Given the description of an element on the screen output the (x, y) to click on. 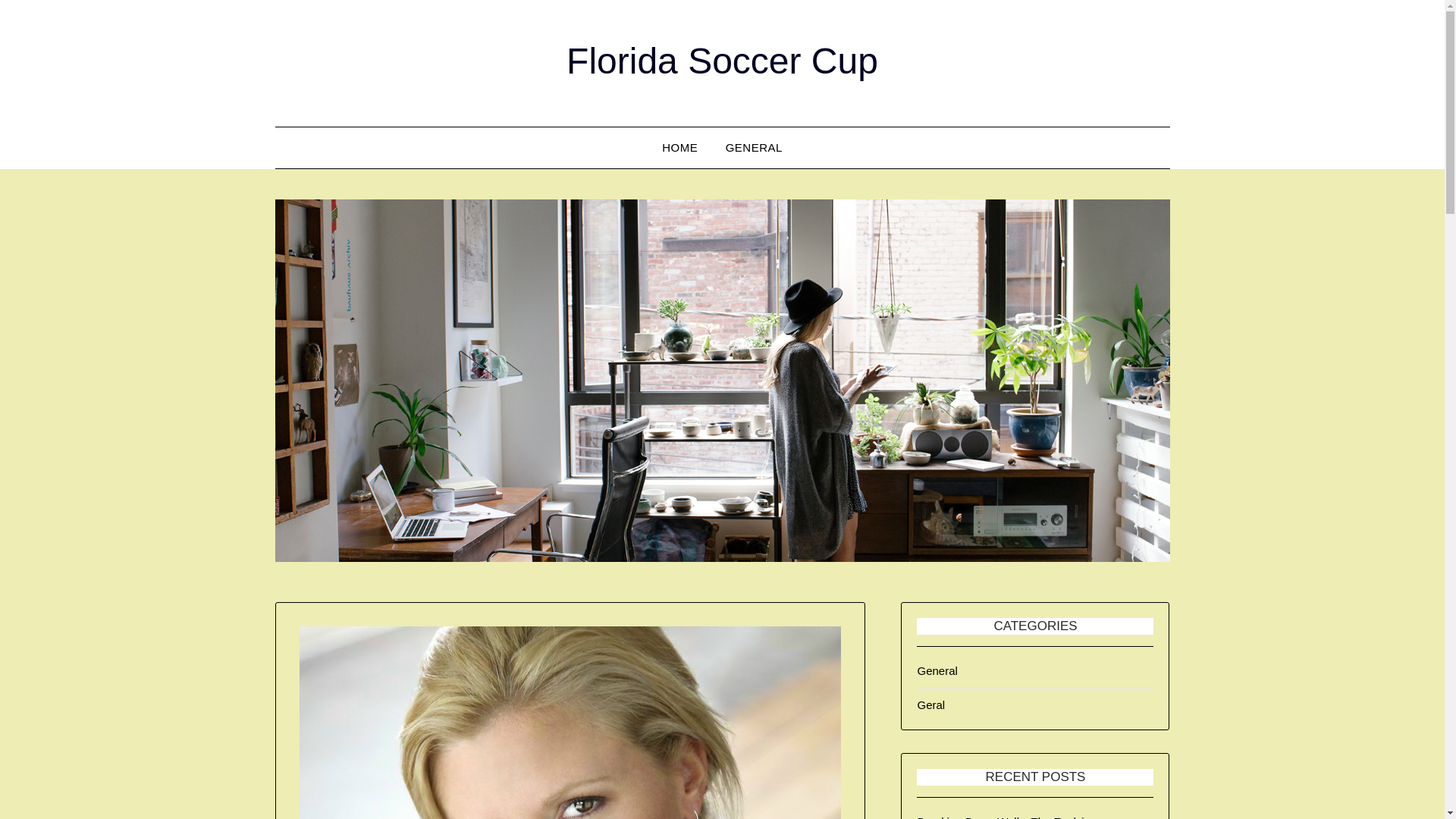
HOME (679, 147)
General (936, 670)
Geral (930, 704)
Florida Soccer Cup (721, 60)
GENERAL (753, 147)
